Given the description of an element on the screen output the (x, y) to click on. 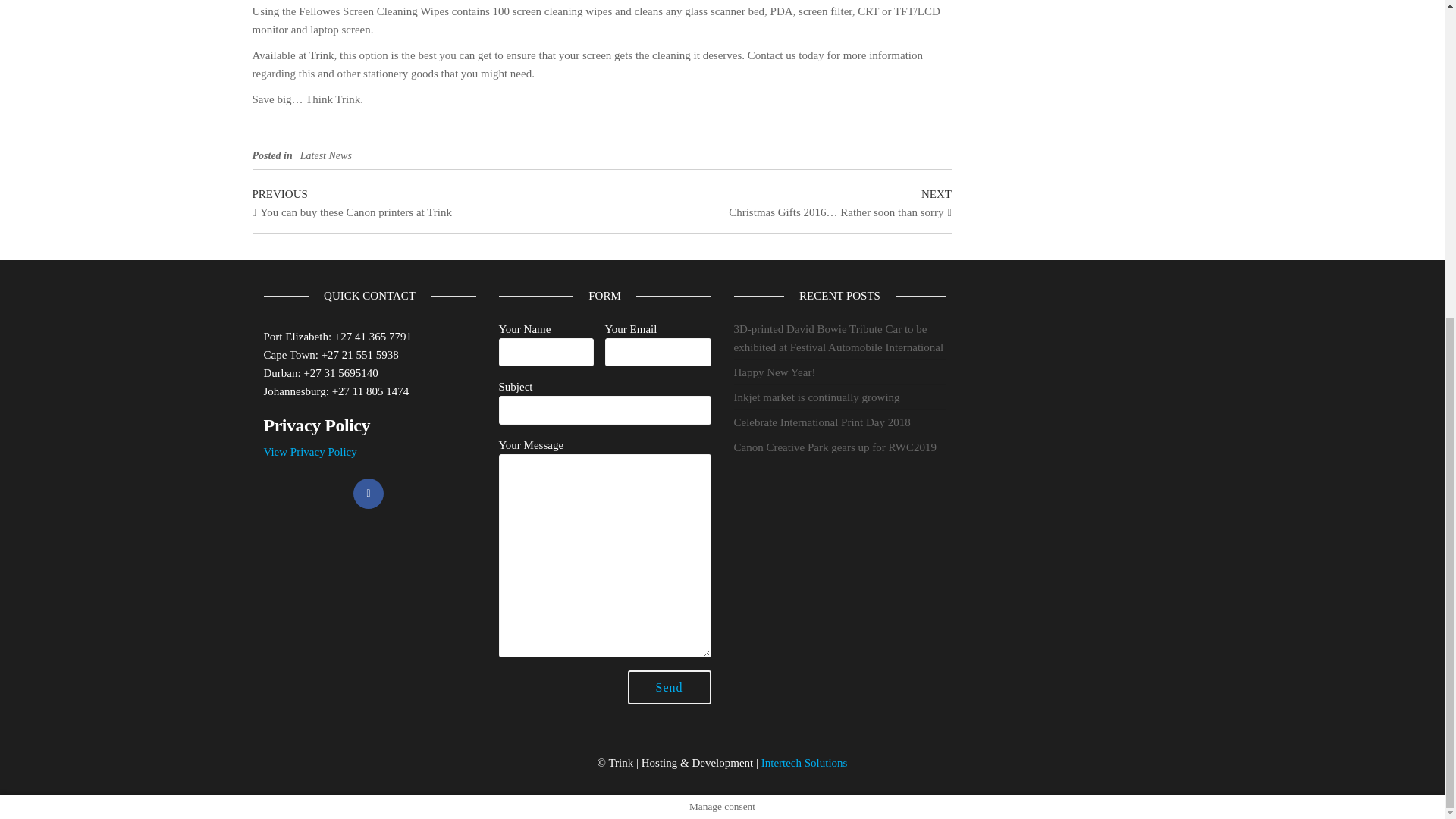
Latest News (325, 155)
Celebrate International Print Day 2018 (822, 422)
Canon Creative Park gears up for RWC2019 (834, 447)
Inkjet market is continually growing (816, 397)
Happy New Year! (774, 372)
Send (669, 687)
View Privacy Policy (309, 451)
Facebook (368, 493)
